Given the description of an element on the screen output the (x, y) to click on. 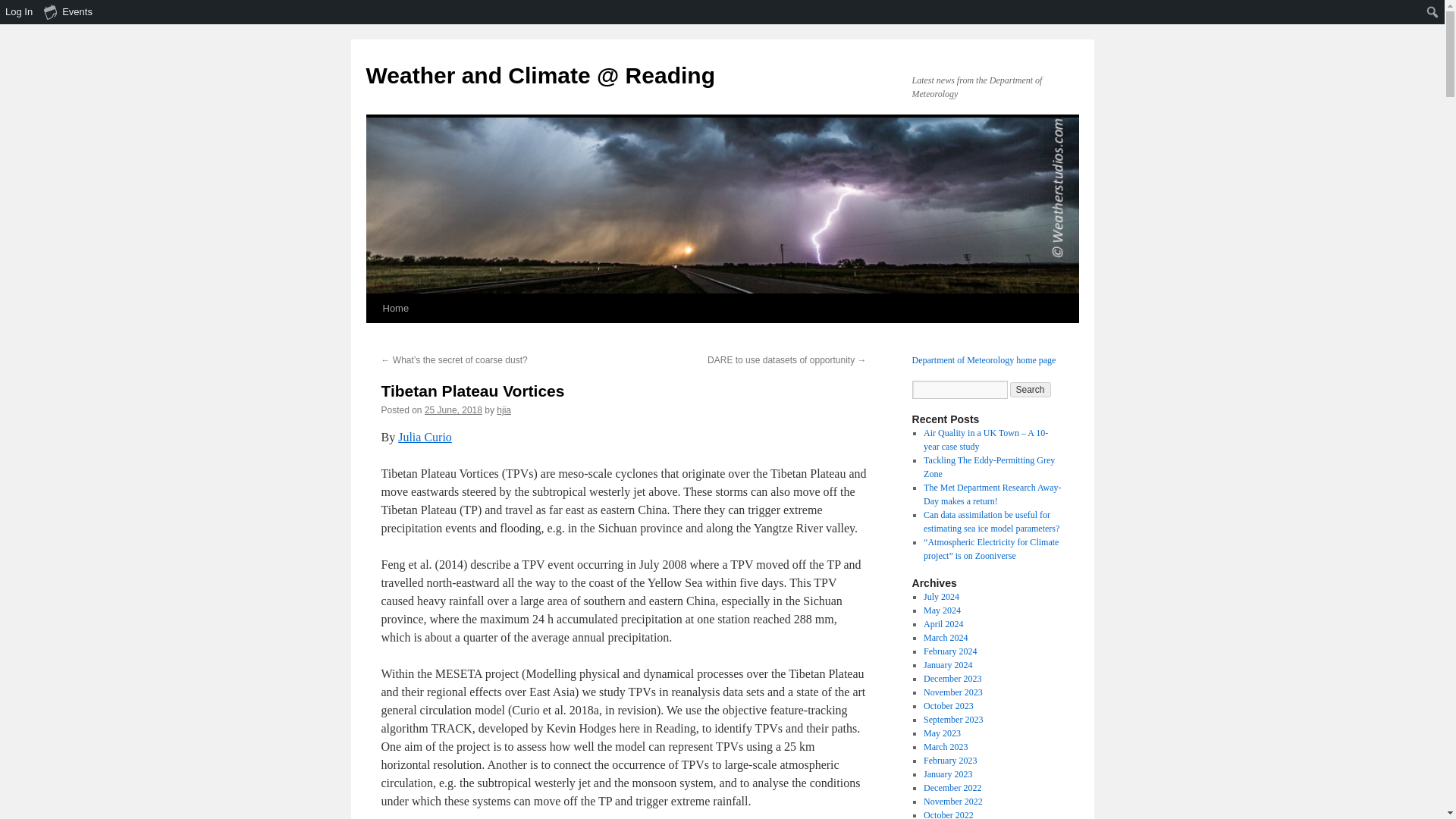
Tackling The Eddy-Permitting Grey Zone (988, 467)
View all posts by hjia (503, 409)
06:45 (453, 409)
Search (1030, 389)
Events (69, 12)
Home (395, 308)
Julia Curio (424, 436)
Log In (19, 12)
Search (16, 13)
hjia (503, 409)
